Given the description of an element on the screen output the (x, y) to click on. 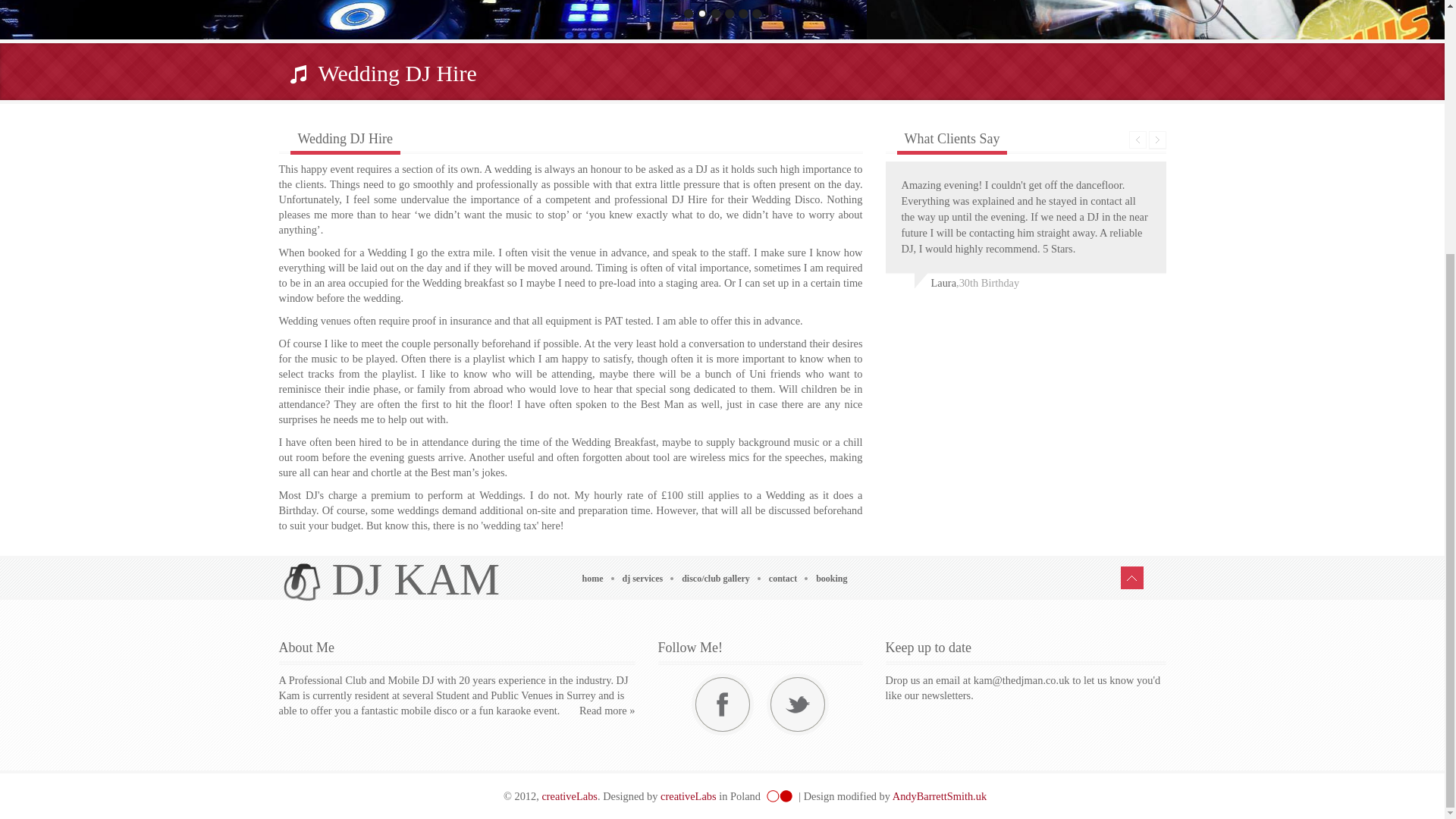
booking (837, 578)
AndyBarrettSmith.uk (939, 796)
contact (788, 578)
creativeLabs (688, 796)
DJ KAM (390, 579)
dj services (647, 578)
creativeLabs (568, 796)
home (598, 578)
